Given the description of an element on the screen output the (x, y) to click on. 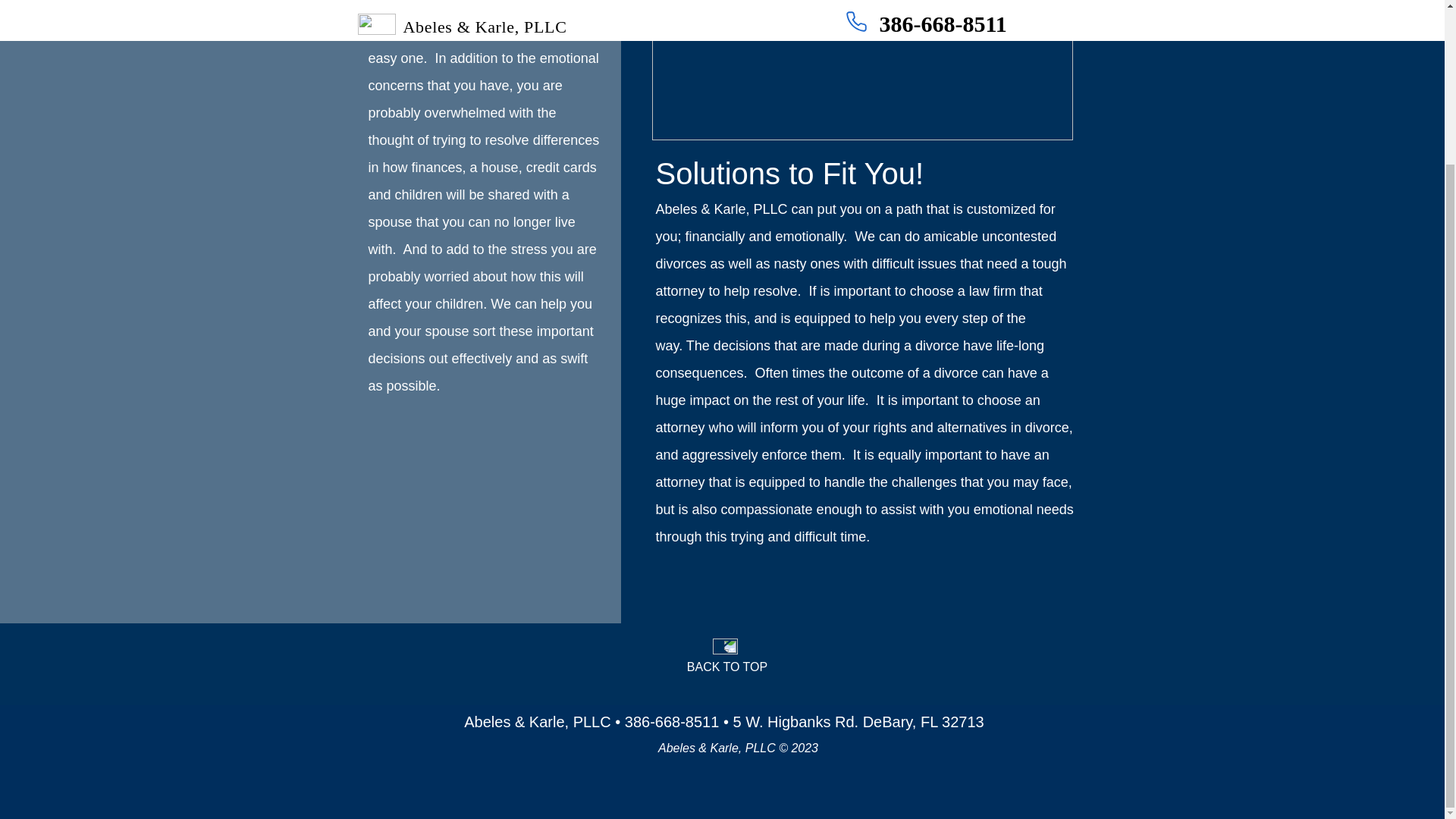
BACK TO TOP (727, 666)
